Given the description of an element on the screen output the (x, y) to click on. 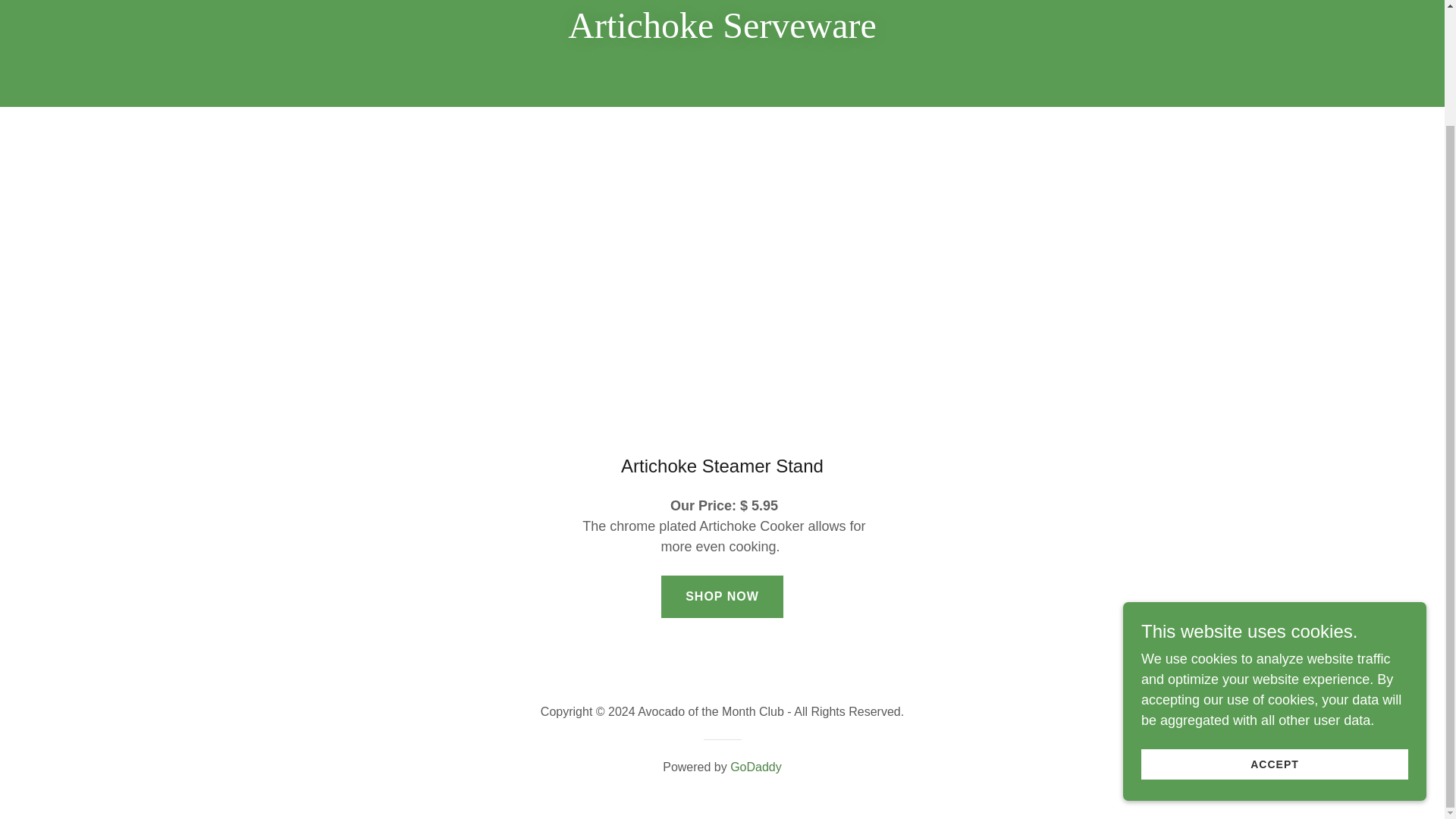
SHOP NOW (722, 596)
ACCEPT (1274, 626)
GoDaddy (755, 766)
